Given the description of an element on the screen output the (x, y) to click on. 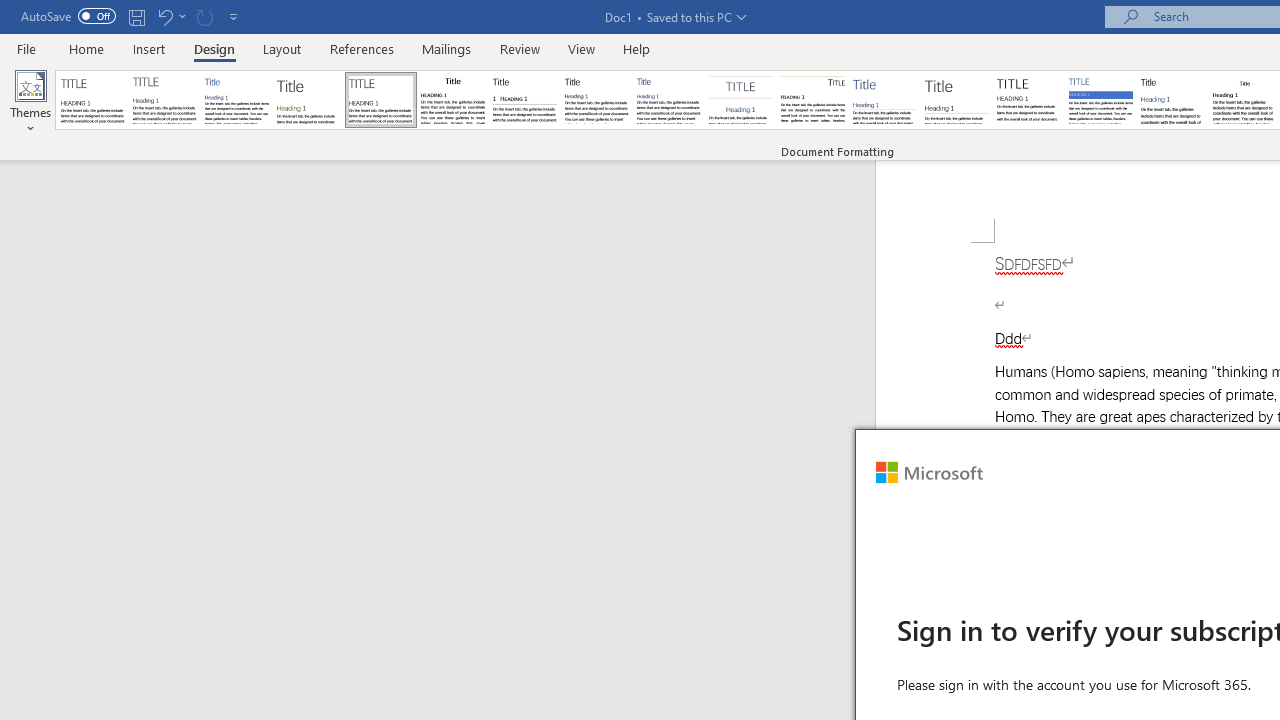
Basic (Simple) (236, 100)
Basic (Stylish) (308, 100)
Document (93, 100)
Basic (Elegant) (164, 100)
